Given the description of an element on the screen output the (x, y) to click on. 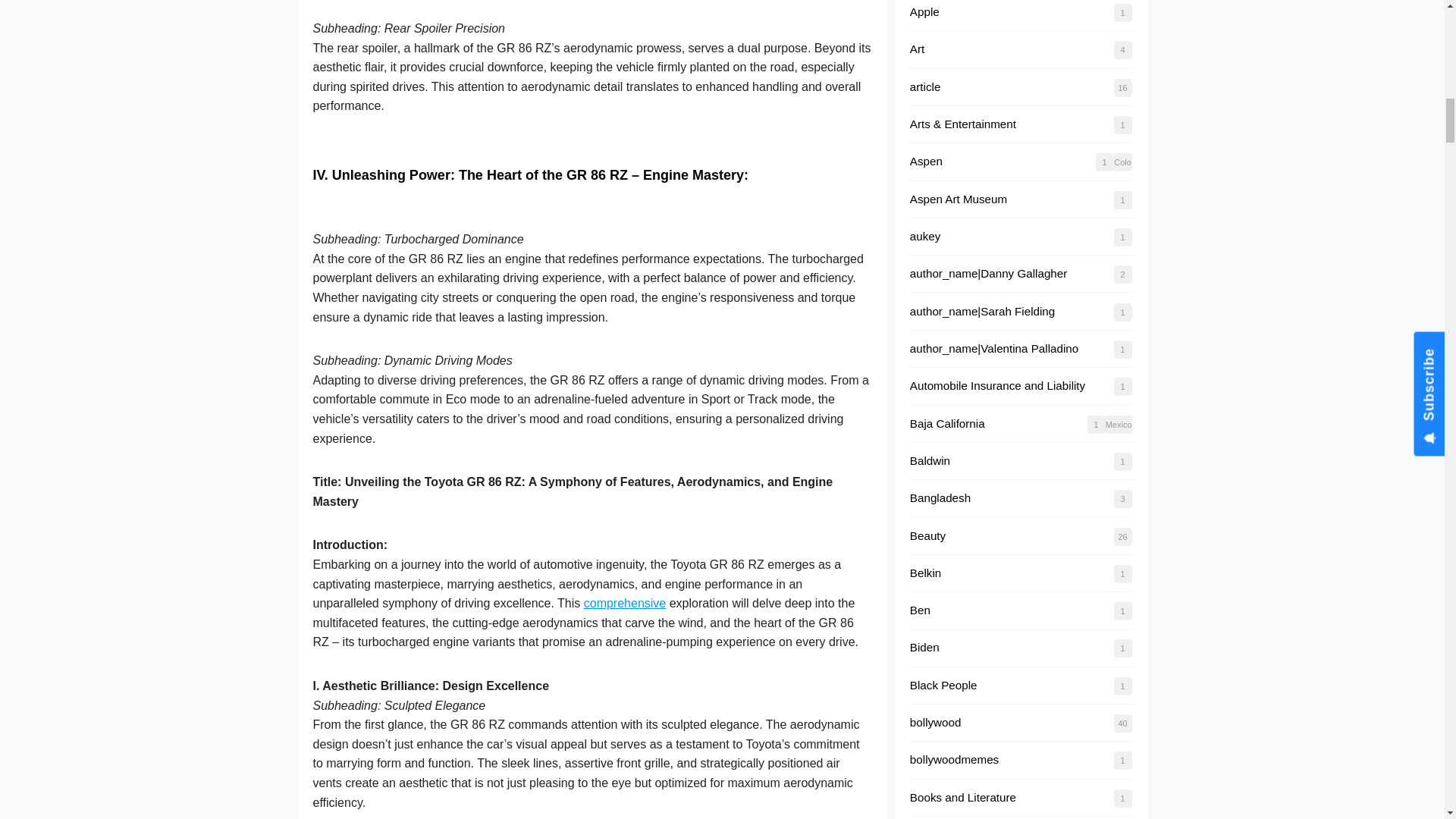
comprehensive (624, 603)
